Given the description of an element on the screen output the (x, y) to click on. 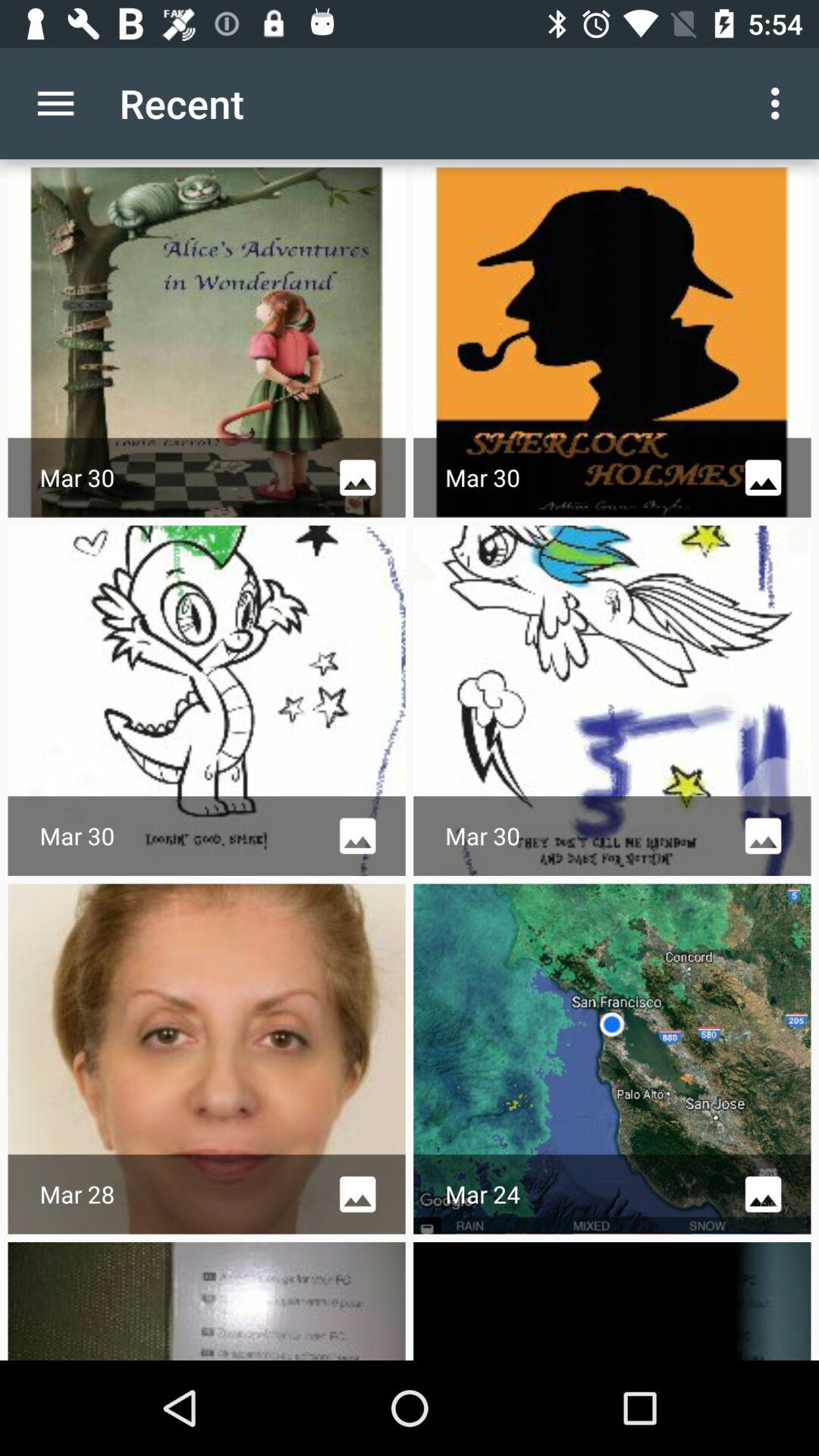
launch item next to the recent app (779, 103)
